Given the description of an element on the screen output the (x, y) to click on. 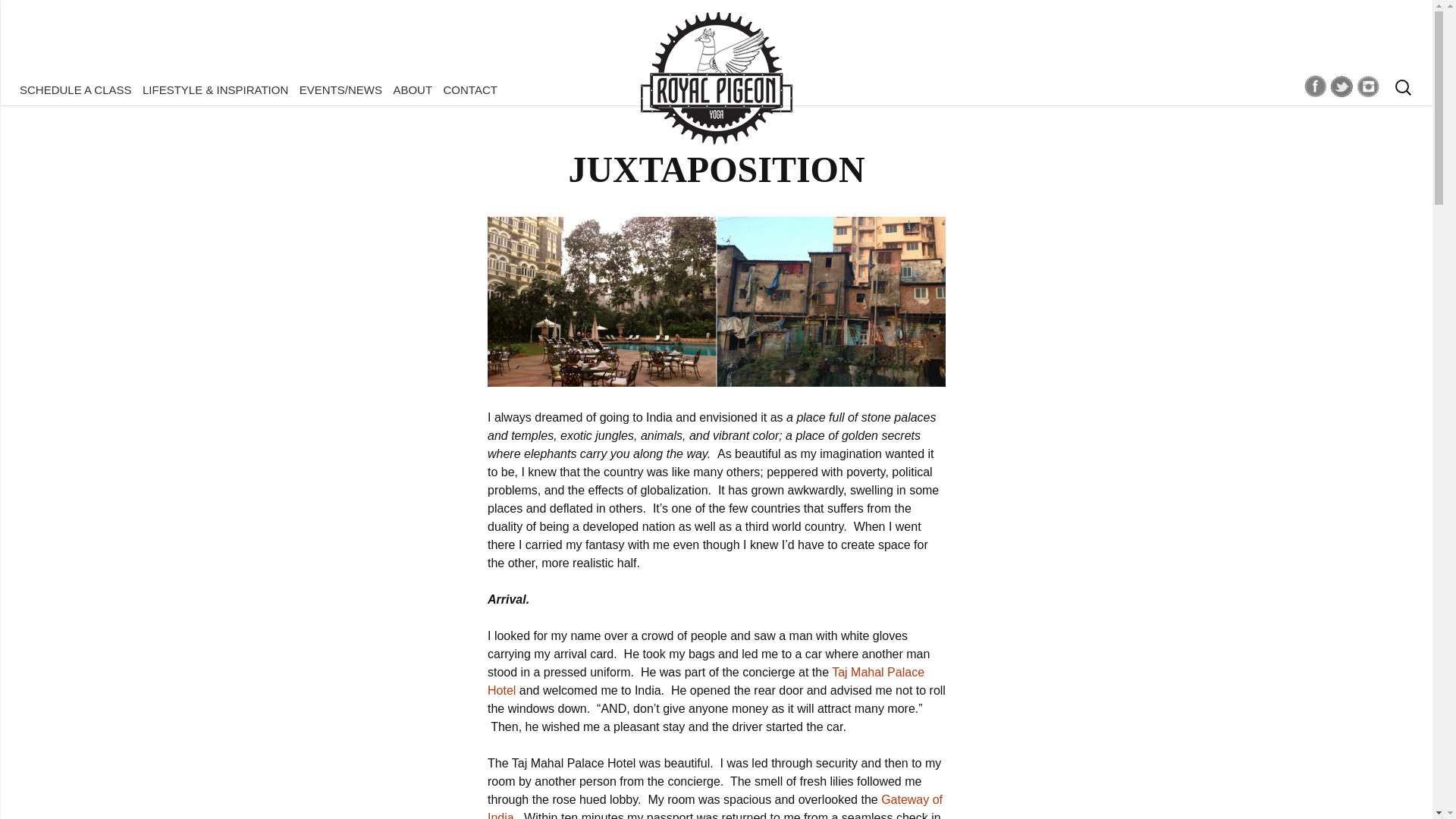
SCHEDULE A CLASS (75, 89)
Skip to content (56, 89)
Skip to content (56, 89)
Search (18, 15)
CONTACT (469, 89)
ABOUT (411, 89)
Taj Mahal Palace Hotel (705, 680)
Gateway of India (714, 806)
